Given the description of an element on the screen output the (x, y) to click on. 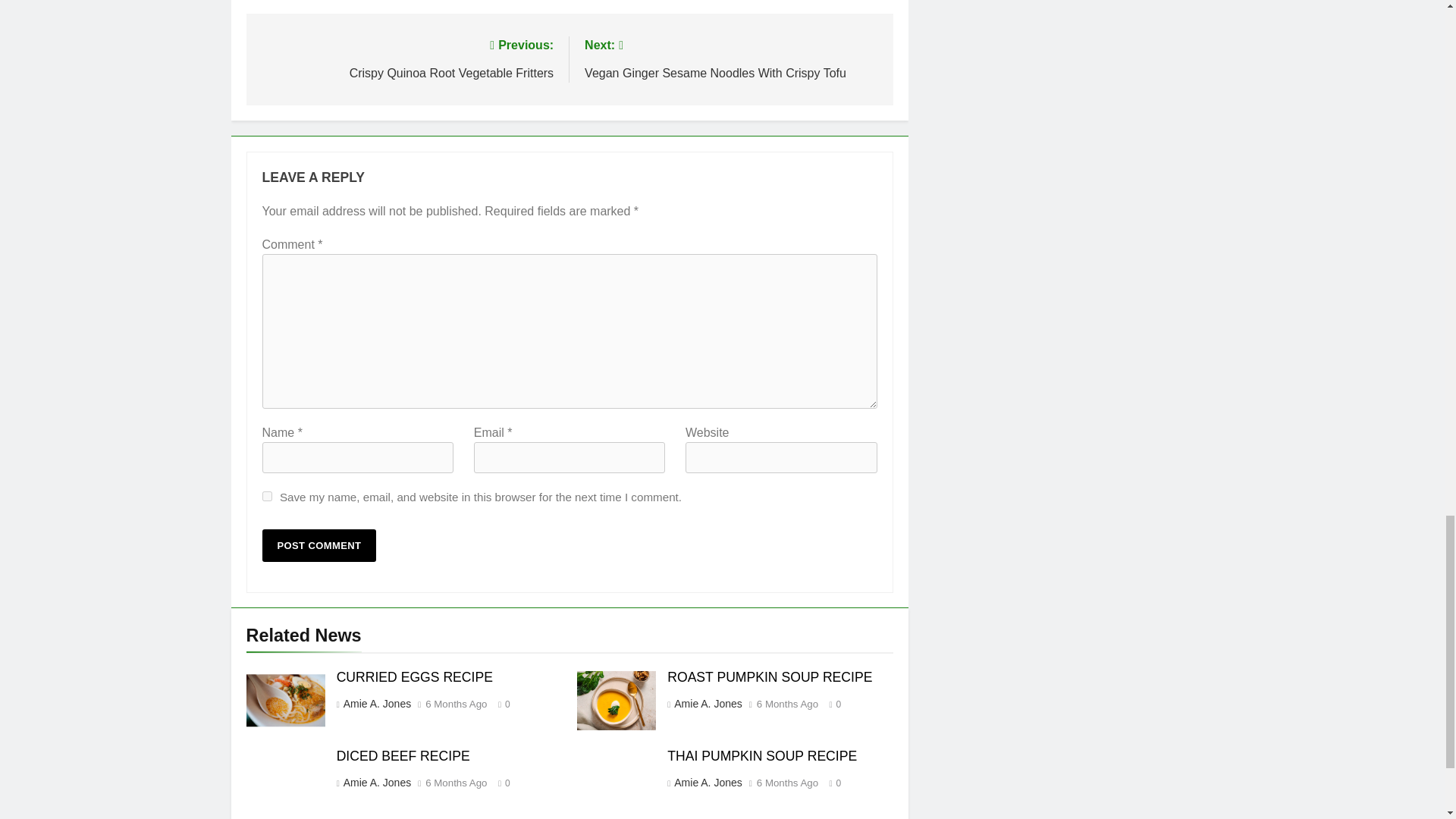
6 Months Ago (787, 704)
0 (500, 703)
0 (831, 703)
Post Comment (319, 545)
Post Comment (319, 545)
6 Months Ago (455, 704)
ROAST PUMPKIN SOUP RECIPE (769, 676)
6 Months Ago (455, 783)
Amie A. Jones (707, 782)
DICED BEEF RECIPE (403, 755)
0 (500, 781)
yes (267, 496)
Amie A. Jones (707, 703)
Amie A. Jones (376, 703)
CURRIED EGGS RECIPE (414, 676)
